Given the description of an element on the screen output the (x, y) to click on. 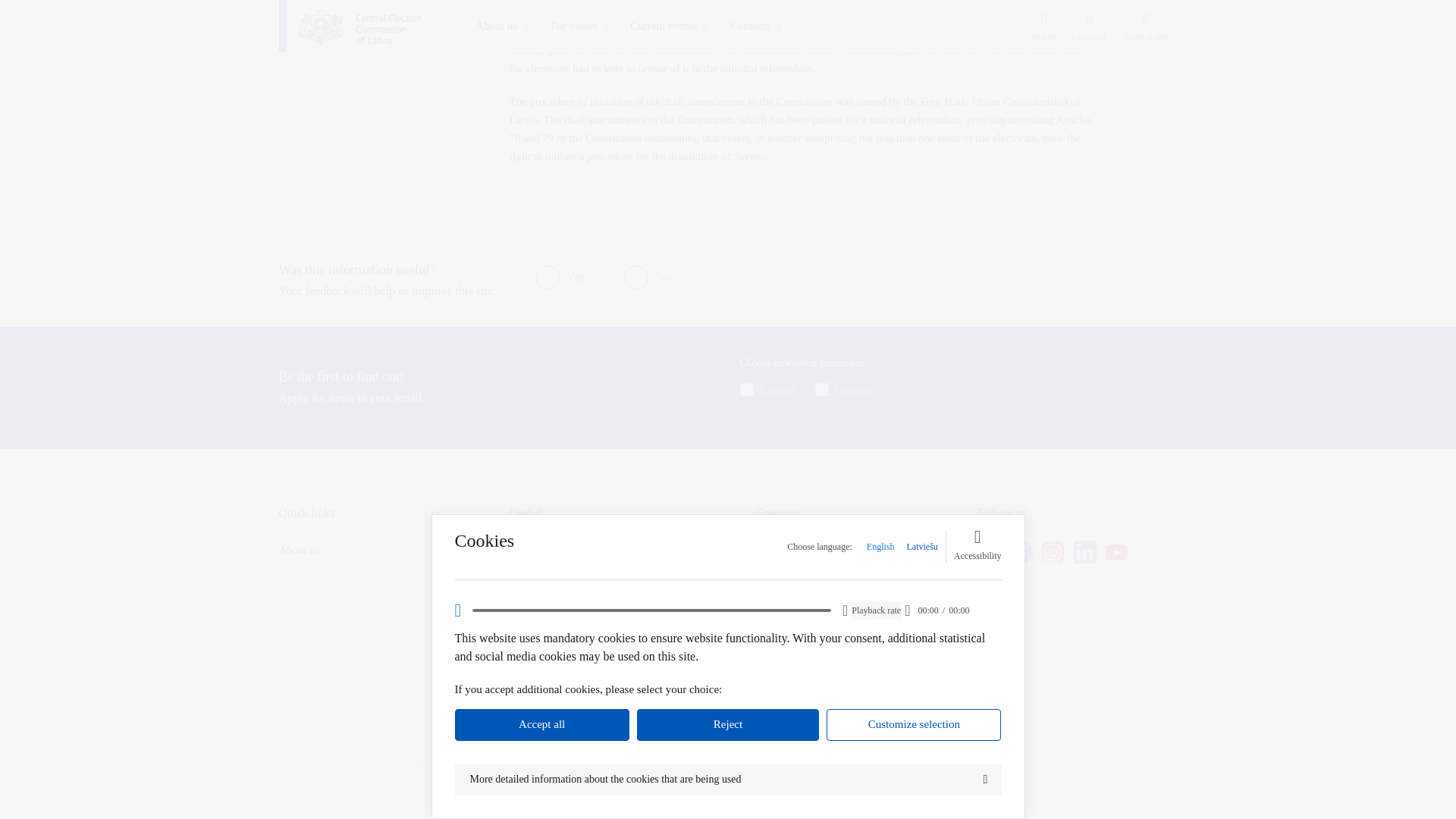
Playback rate (876, 41)
